Given the description of an element on the screen output the (x, y) to click on. 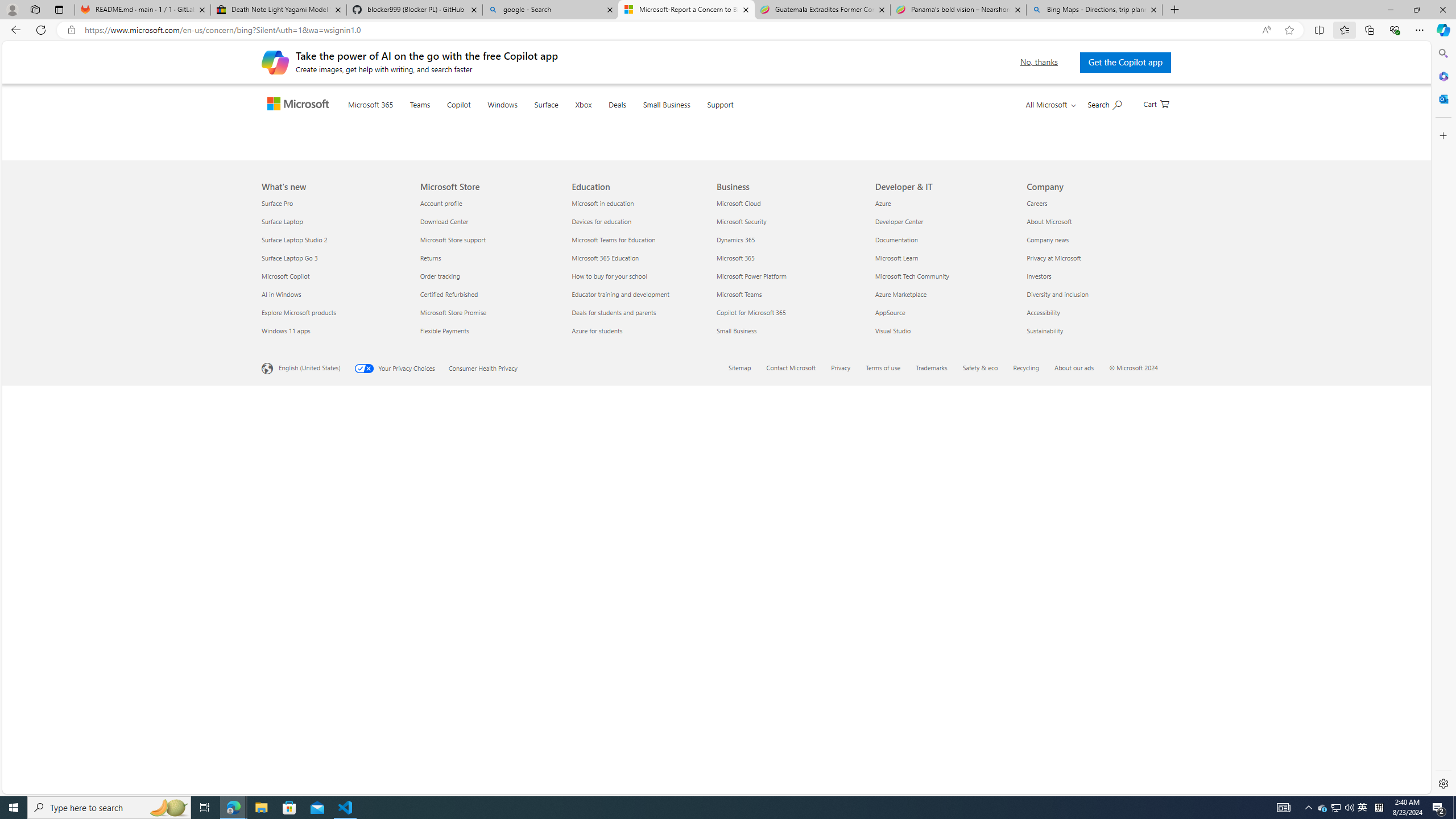
Xbox (606, 118)
Search Microsoft.com (1103, 103)
Contact Microsoft (797, 768)
Consumer Health Privacy (489, 767)
Trademarks (931, 767)
Microsoft Tech Community (944, 676)
Company news (1095, 639)
Company news Company (1047, 639)
Documentation (944, 639)
Contact Microsoft (790, 767)
Privacy at Microsoft Company (1053, 657)
